Given the description of an element on the screen output the (x, y) to click on. 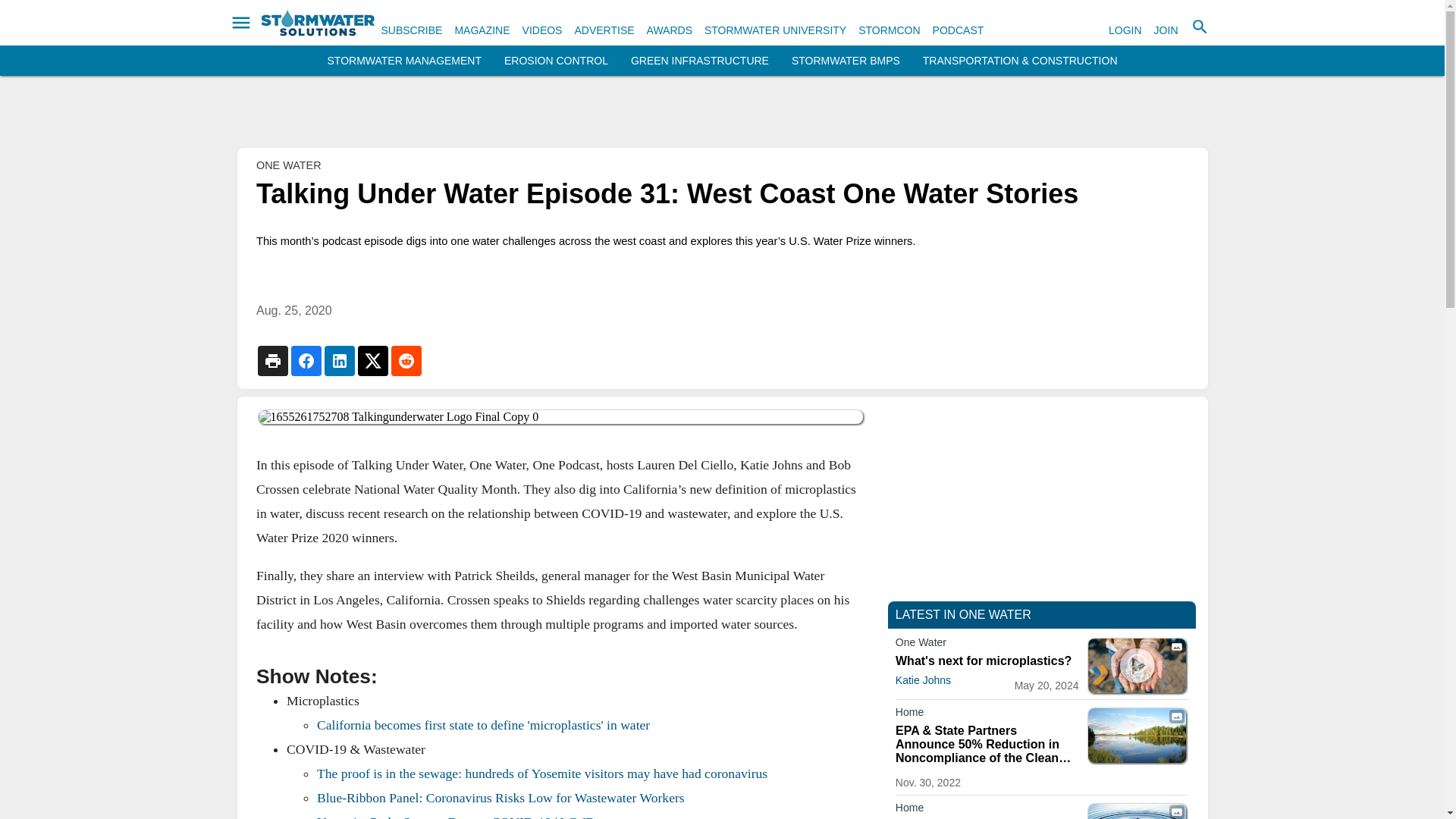
STORMWATER BMPS (845, 60)
STORMWATER MANAGEMENT (404, 60)
LOGIN (1124, 30)
STORMCON (889, 30)
VIDEOS (542, 30)
STORMWATER UNIVERSITY (774, 30)
GREEN INFRASTRUCTURE (699, 60)
SUBSCRIBE (411, 30)
ADVERTISE (603, 30)
AWARDS (669, 30)
